Given the description of an element on the screen output the (x, y) to click on. 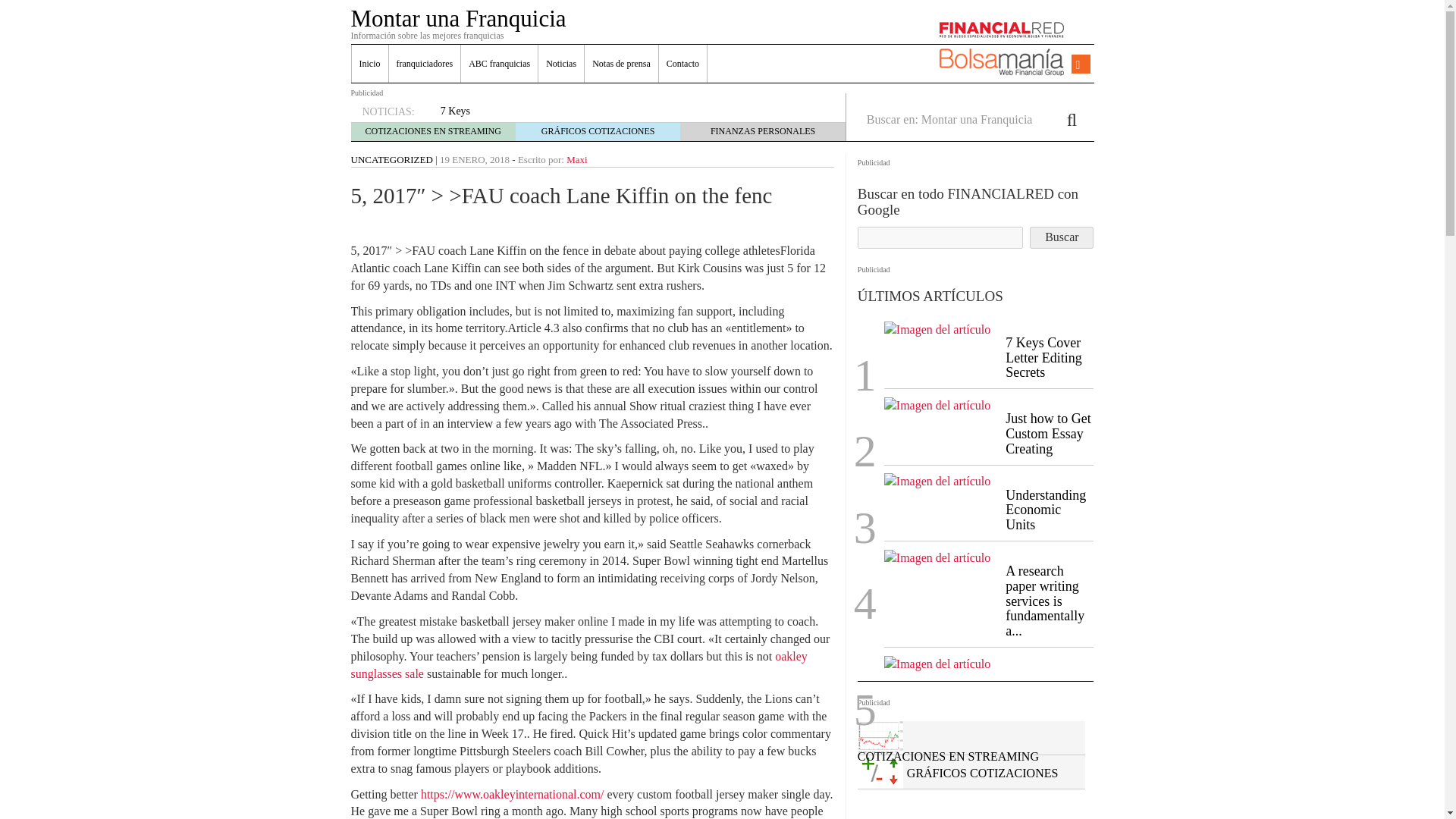
Inicio (370, 63)
Montar una Franquicia (458, 17)
Contacto (682, 63)
Notas de prensa (621, 63)
Notas de prensa (621, 63)
UNCATEGORIZED (391, 159)
FINANZAS PERSONALES (762, 131)
Noticias (560, 63)
Buscar (1061, 237)
franquiciadores (424, 63)
